Given the description of an element on the screen output the (x, y) to click on. 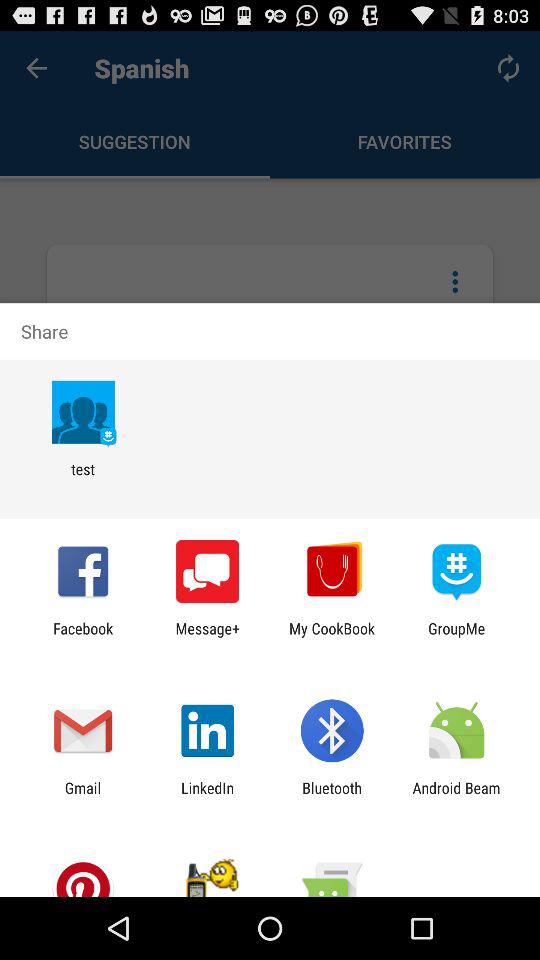
launch the icon next to the message+ app (331, 637)
